Given the description of an element on the screen output the (x, y) to click on. 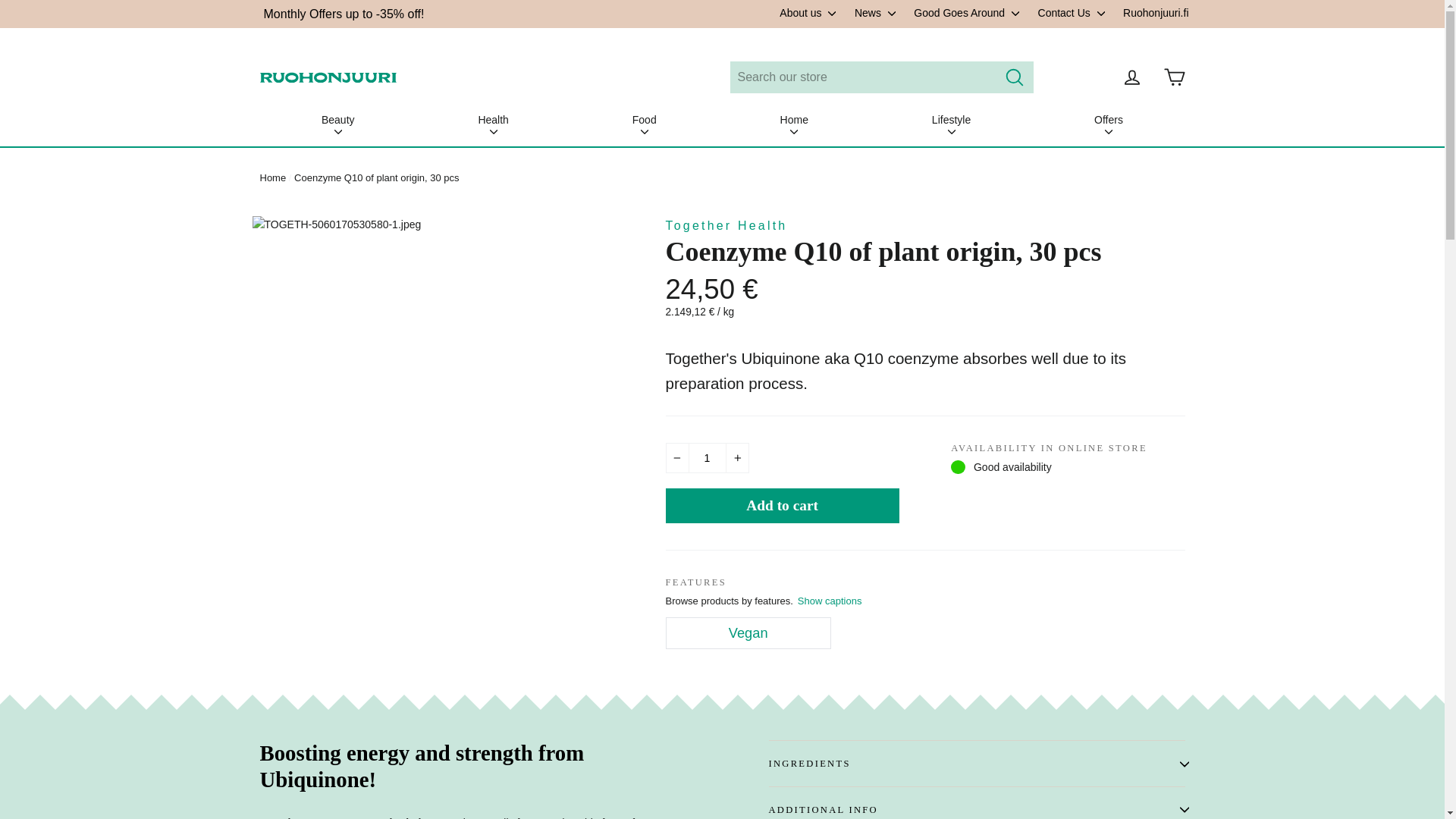
1 (707, 458)
Back to the frontpage (272, 177)
